Given the description of an element on the screen output the (x, y) to click on. 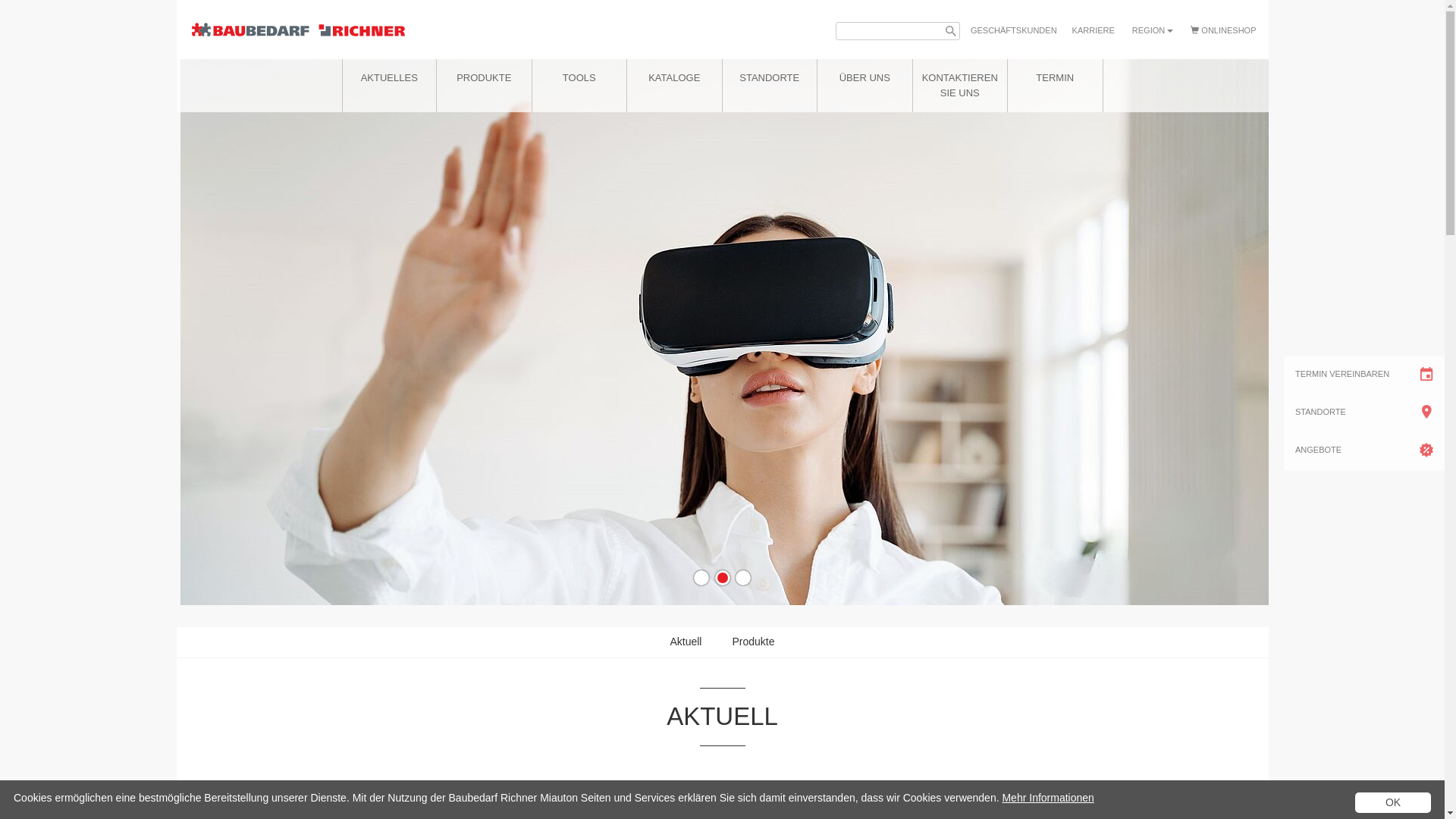
TERMIN Element type: text (1054, 78)
PRODUKTE Element type: text (483, 78)
TERMIN VEREINBAREN Element type: text (1363, 375)
STANDORTE Element type: text (768, 78)
REGION Element type: text (1152, 30)
AKTUELLES Element type: text (389, 78)
RichnerLAB Element type: hover (726, 332)
ONLINESHOP Element type: text (1223, 30)
KONTAKTIEREN SIE UNS Element type: text (960, 85)
KARRIERE Element type: text (1093, 30)
Mehr Informationen Element type: text (1047, 797)
Aktuell Element type: text (685, 642)
KATALOGE Element type: text (674, 78)
TOOLS Element type: text (579, 78)
ANGEBOTE Element type: text (1363, 451)
STANDORTE Element type: text (1363, 413)
Produkte Element type: text (752, 642)
